Given the description of an element on the screen output the (x, y) to click on. 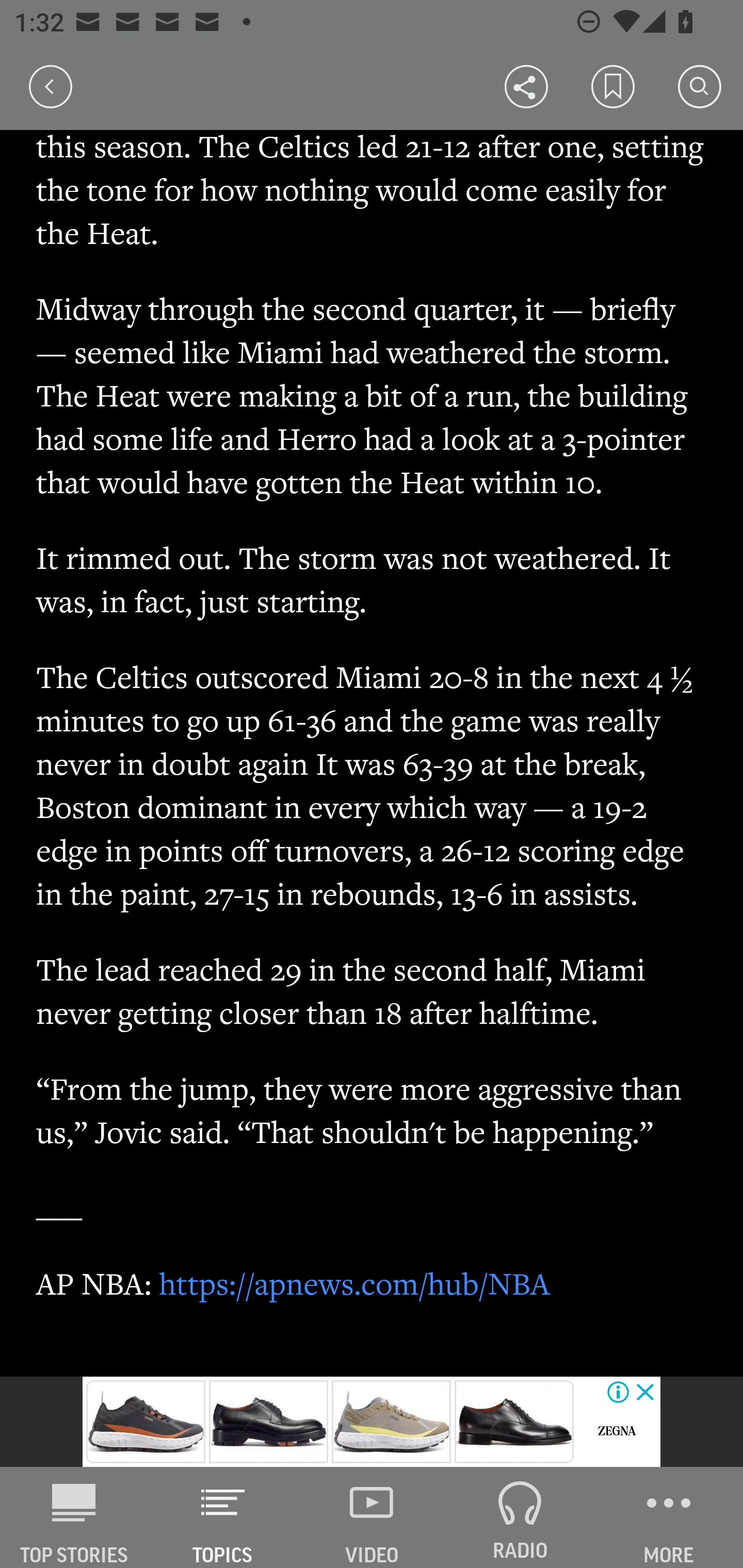
https://apnews.com/hub/NBA (354, 1283)
AP News TOP STORIES (74, 1517)
TOPICS (222, 1517)
VIDEO (371, 1517)
RADIO (519, 1517)
MORE (668, 1517)
